Given the description of an element on the screen output the (x, y) to click on. 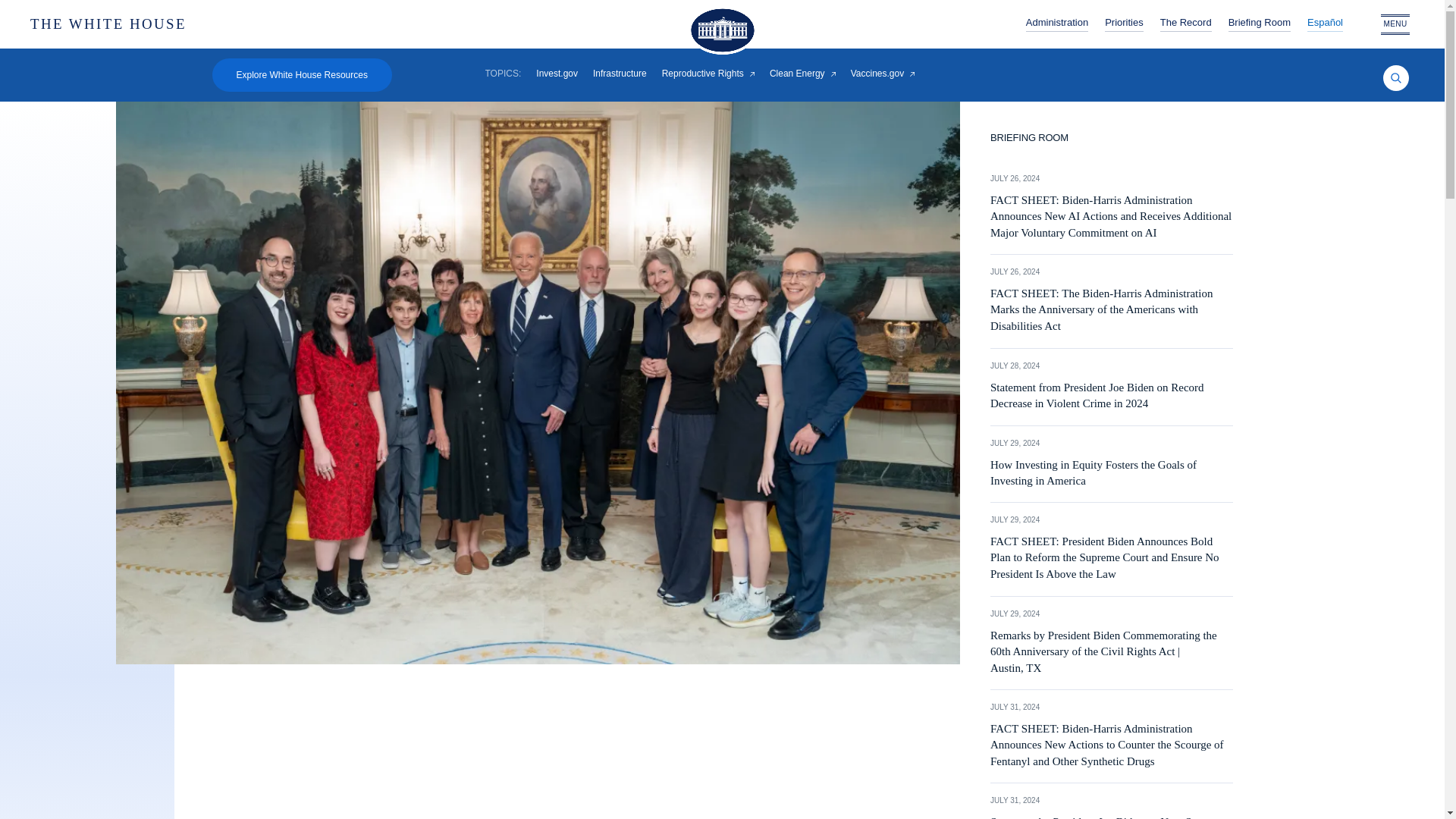
Administration (1056, 23)
The Record (1185, 23)
Briefing Room (1259, 23)
Priorities (1123, 23)
THE WHITE HOUSE (161, 24)
MENU (1394, 24)
